Given the description of an element on the screen output the (x, y) to click on. 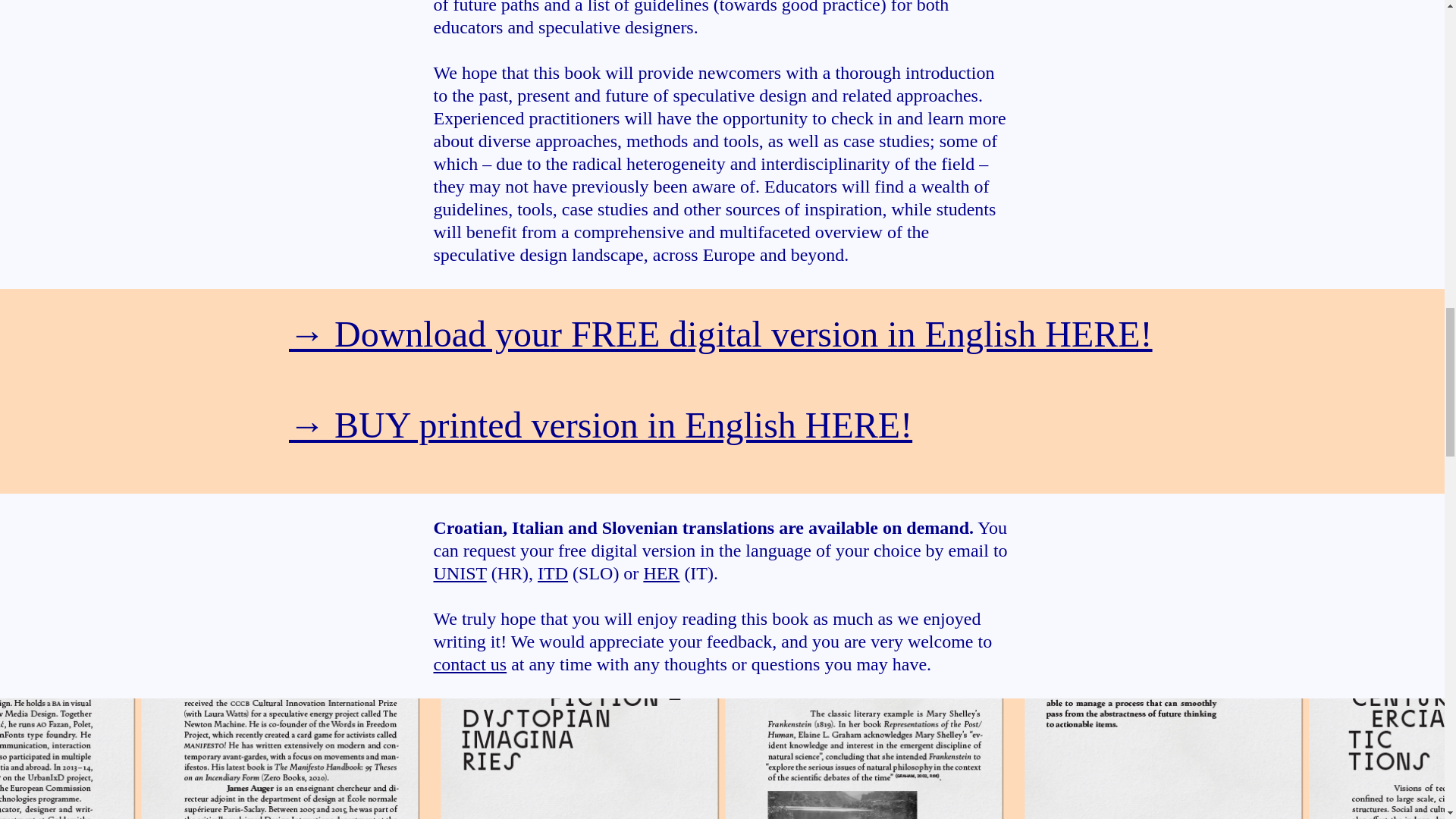
contact us (469, 664)
ITD (552, 573)
HER (661, 573)
UNIST (459, 573)
